Given the description of an element on the screen output the (x, y) to click on. 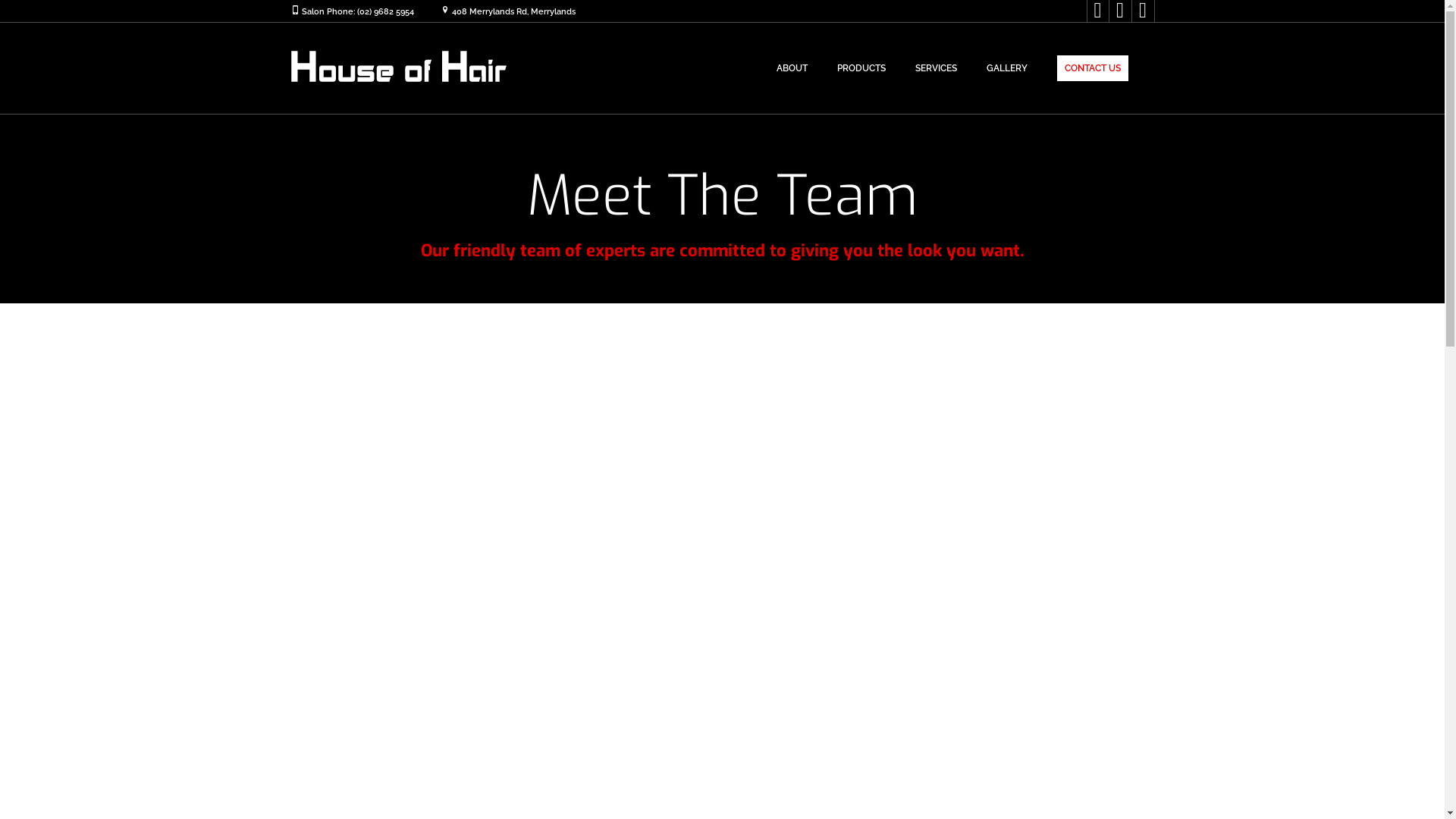
GALLERY Element type: text (1005, 67)
ABOUT Element type: text (791, 67)
staff7 Element type: hover (1167, 544)
CONTACT US Element type: text (1092, 67)
PRODUCTS Element type: text (861, 67)
staff5 Element type: hover (276, 544)
staff6 Element type: hover (722, 544)
SERVICES Element type: text (935, 67)
